Given the description of an element on the screen output the (x, y) to click on. 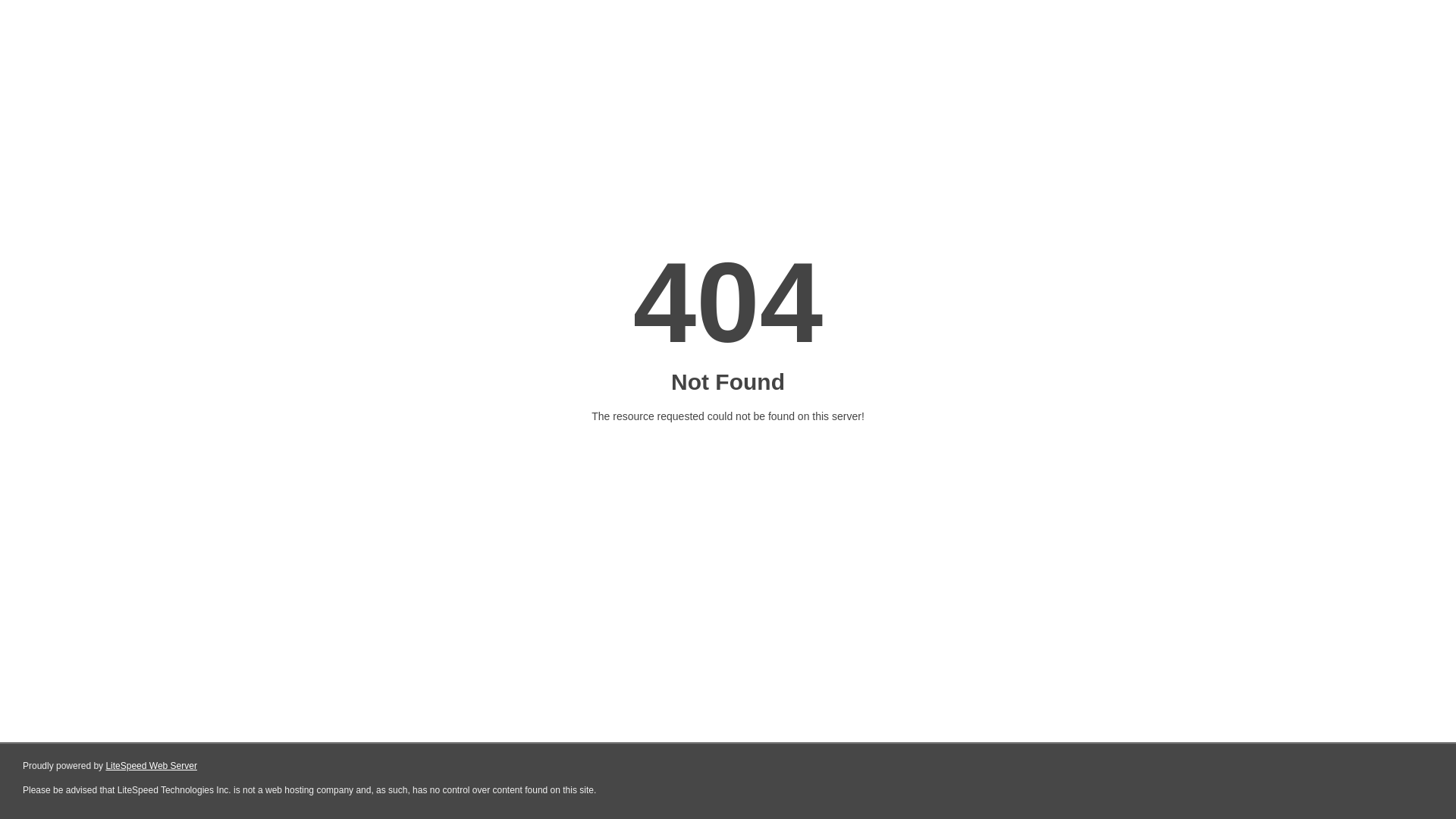
LiteSpeed Web Server Element type: text (151, 765)
